Given the description of an element on the screen output the (x, y) to click on. 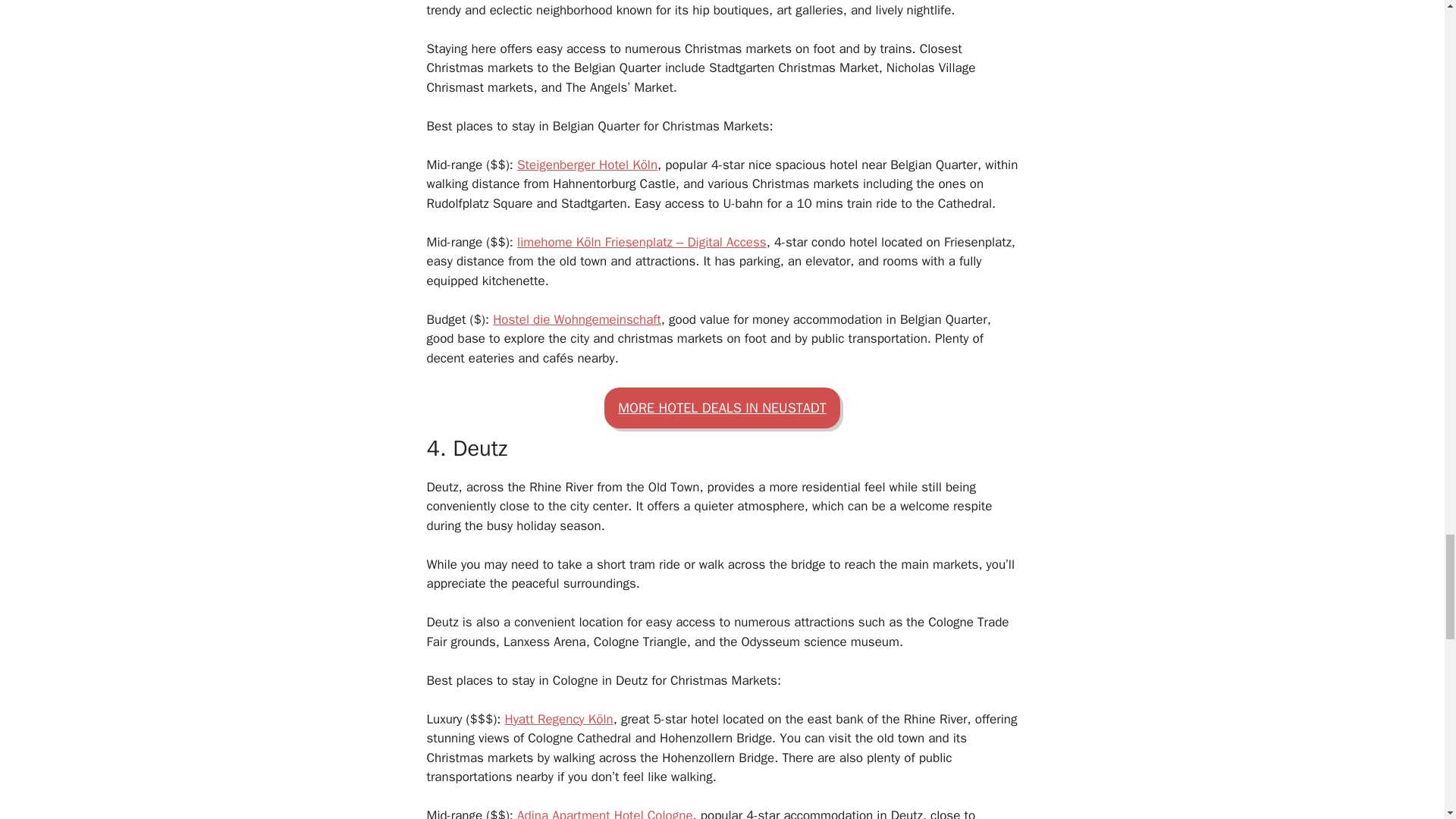
MORE HOTEL DEALS IN NEUSTADT (722, 407)
Hostel die Wohngemeinschaft (577, 319)
Adina Apartment Hotel Cologne (604, 813)
